Given the description of an element on the screen output the (x, y) to click on. 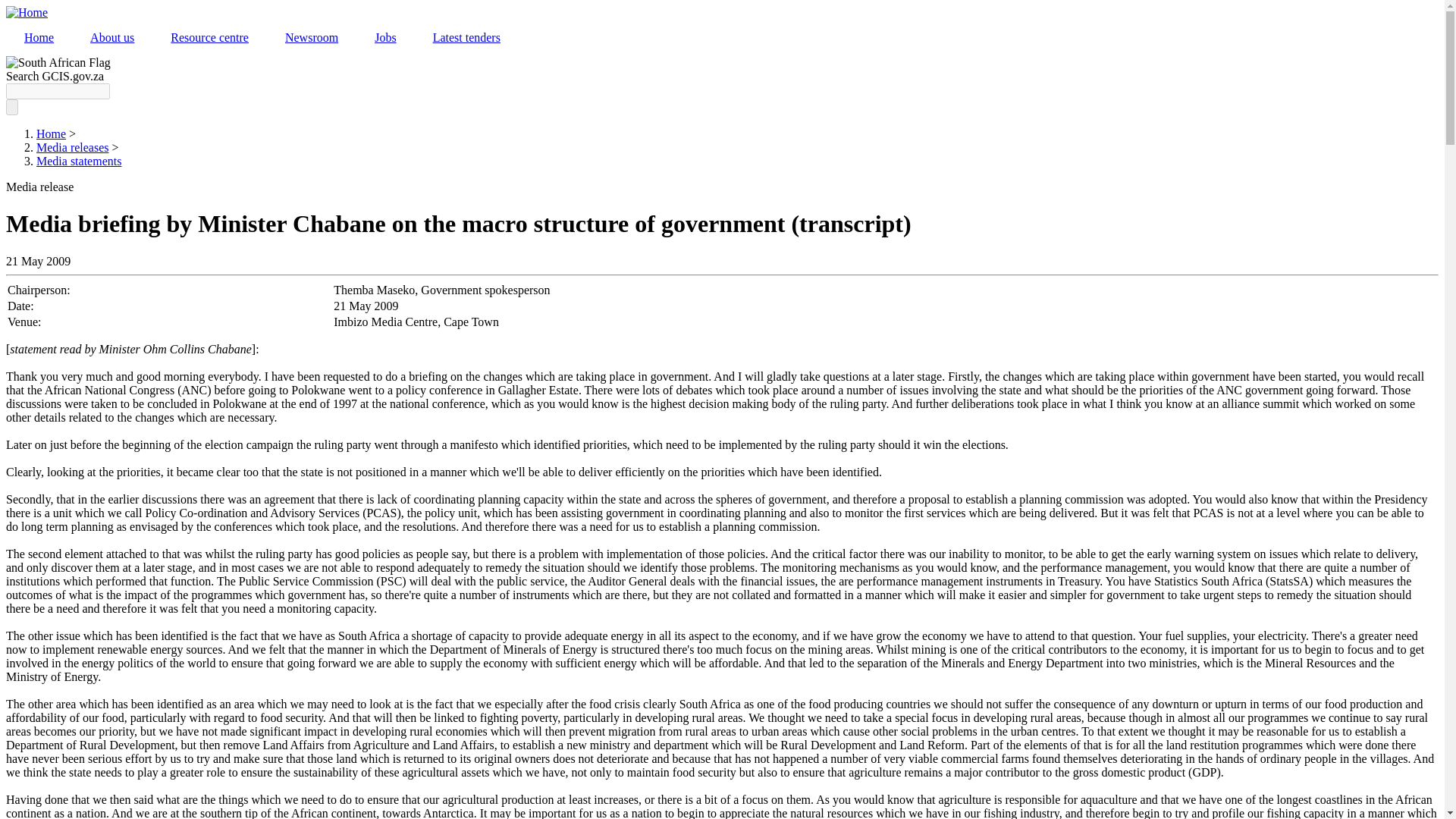
Jobs (384, 37)
Latest tenders (466, 37)
Media releases (72, 146)
Enter the terms you wish to search for. (57, 91)
Home (50, 133)
Home (38, 37)
About us (111, 37)
Home (26, 11)
Resource centre (209, 37)
